Given the description of an element on the screen output the (x, y) to click on. 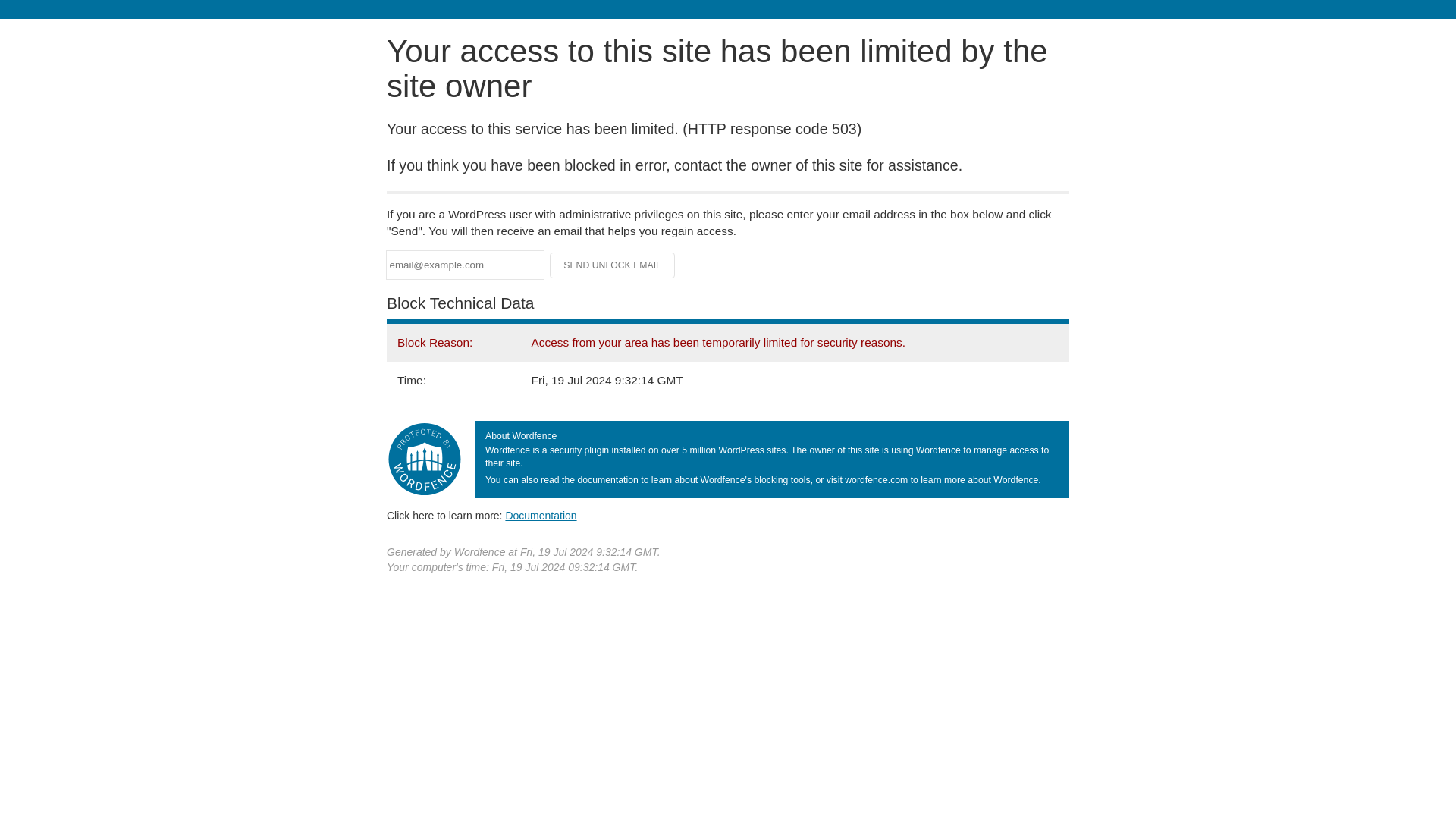
Send Unlock Email (612, 265)
Send Unlock Email (612, 265)
Documentation (540, 515)
